Given the description of an element on the screen output the (x, y) to click on. 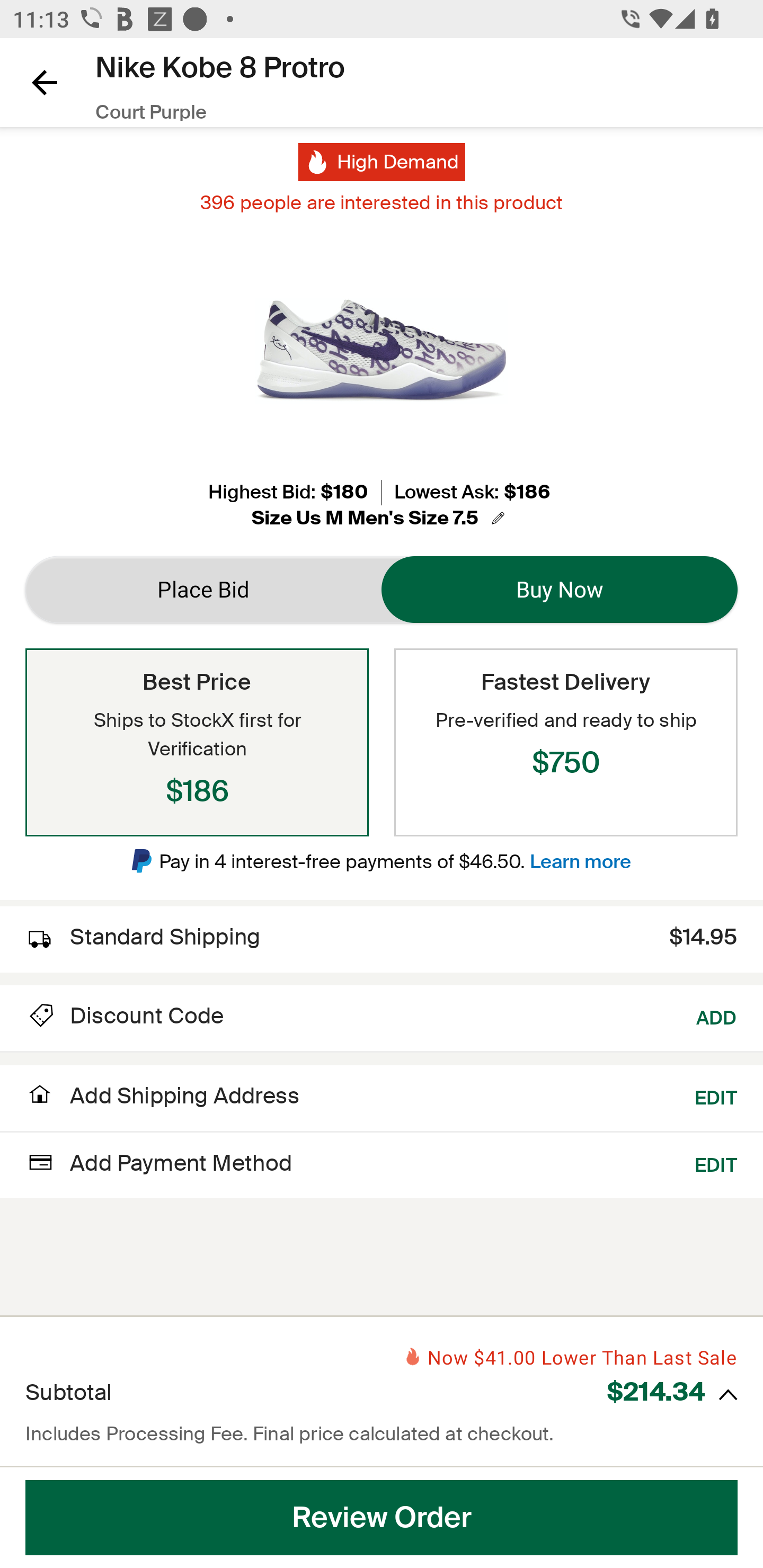
Navigate up (44, 82)
Sneaker Image (381, 350)
Size Us M Men's Size 7.5 An image (380, 517)
Add Discount Code Discount Code (124, 1016)
ADD (717, 1016)
Edit Payment Icon Add Shipping Address (162, 1100)
EDIT (716, 1095)
Edit Payment Icon Add Payment Method (158, 1162)
EDIT (716, 1162)
Review Order (381, 1517)
